Given the description of an element on the screen output the (x, y) to click on. 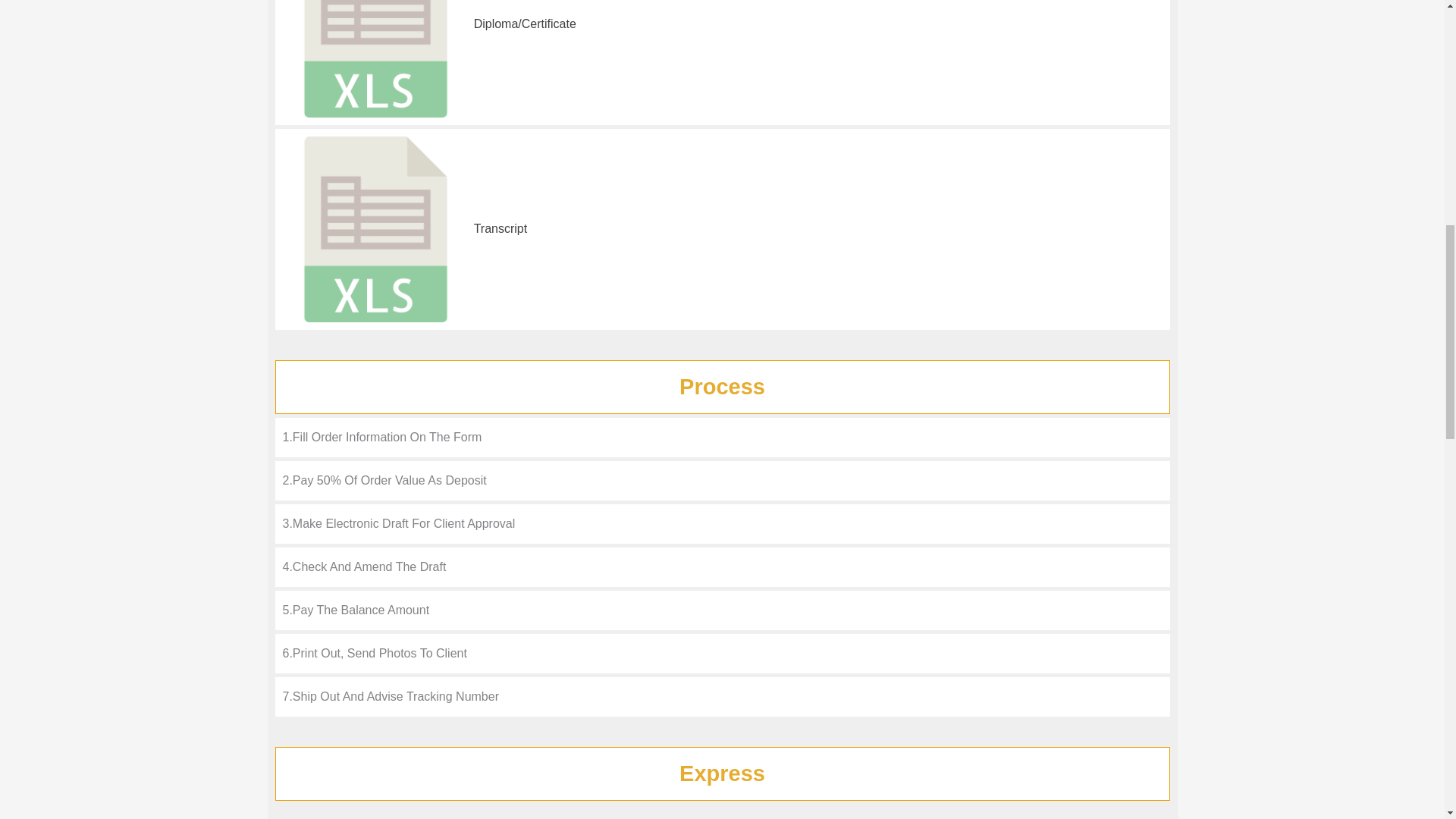
Transcript (500, 228)
